Given the description of an element on the screen output the (x, y) to click on. 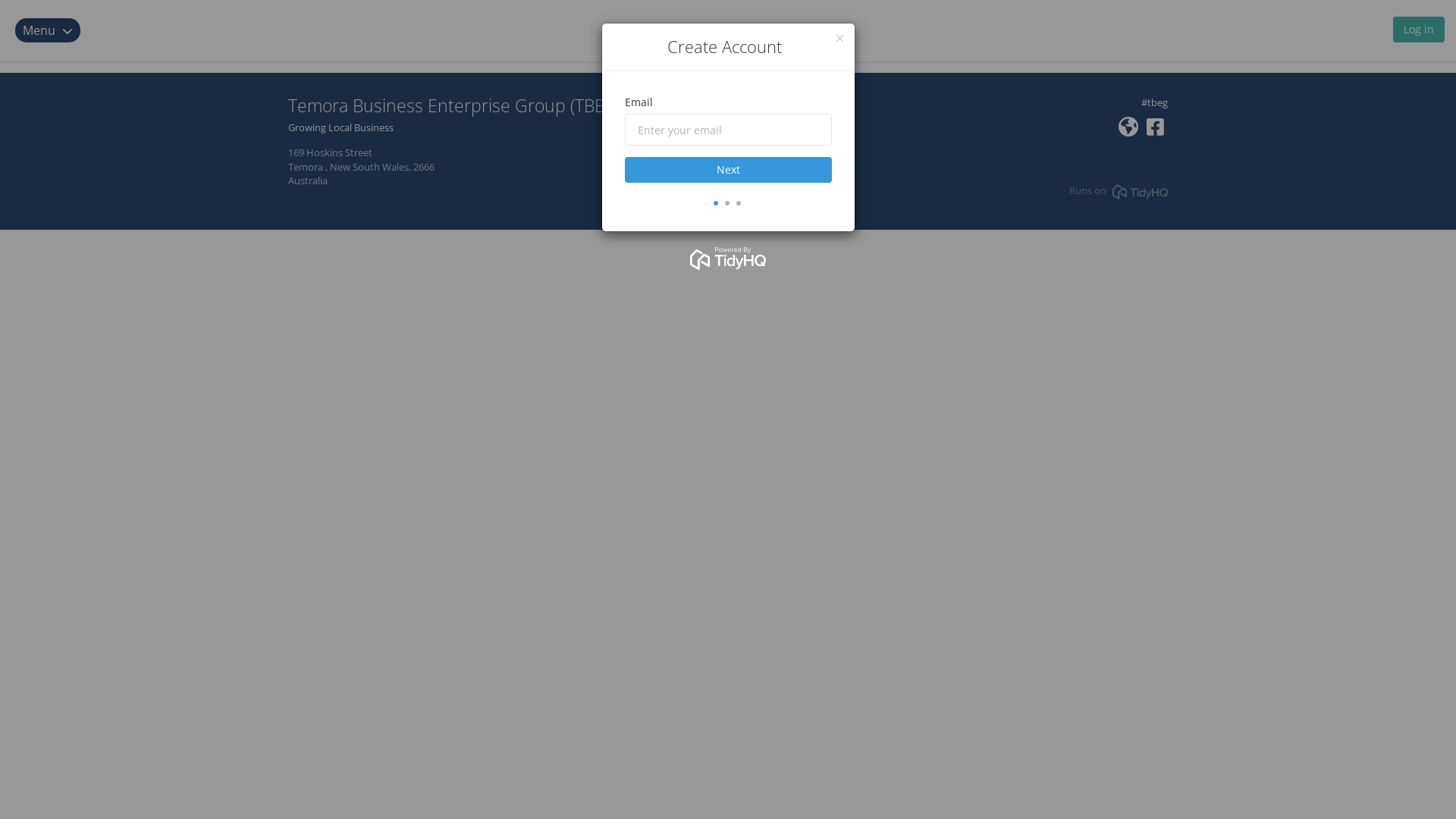
Log in Element type: text (1418, 32)
Menu Element type: text (56, 30)
TemoraBusinessEnterpriseGroup Element type: hover (1155, 130)
https://tbeg.org.au Element type: hover (1128, 130)
